Given the description of an element on the screen output the (x, y) to click on. 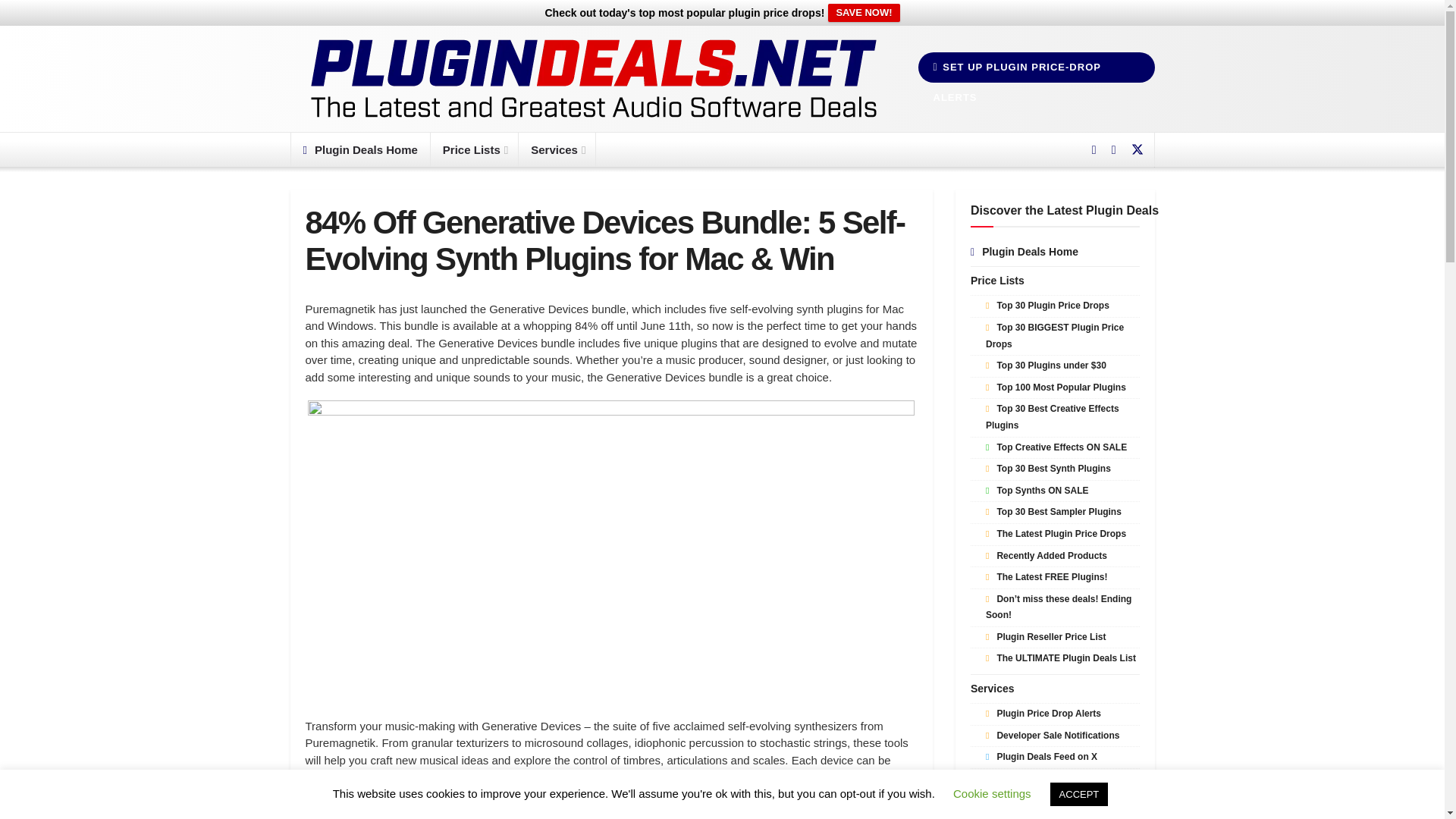
Price Lists (474, 149)
SAVE NOW! (863, 13)
Plugin Deals Home (360, 149)
Services (556, 149)
SET UP PLUGIN PRICE-DROP ALERTS (1035, 67)
